Given the description of an element on the screen output the (x, y) to click on. 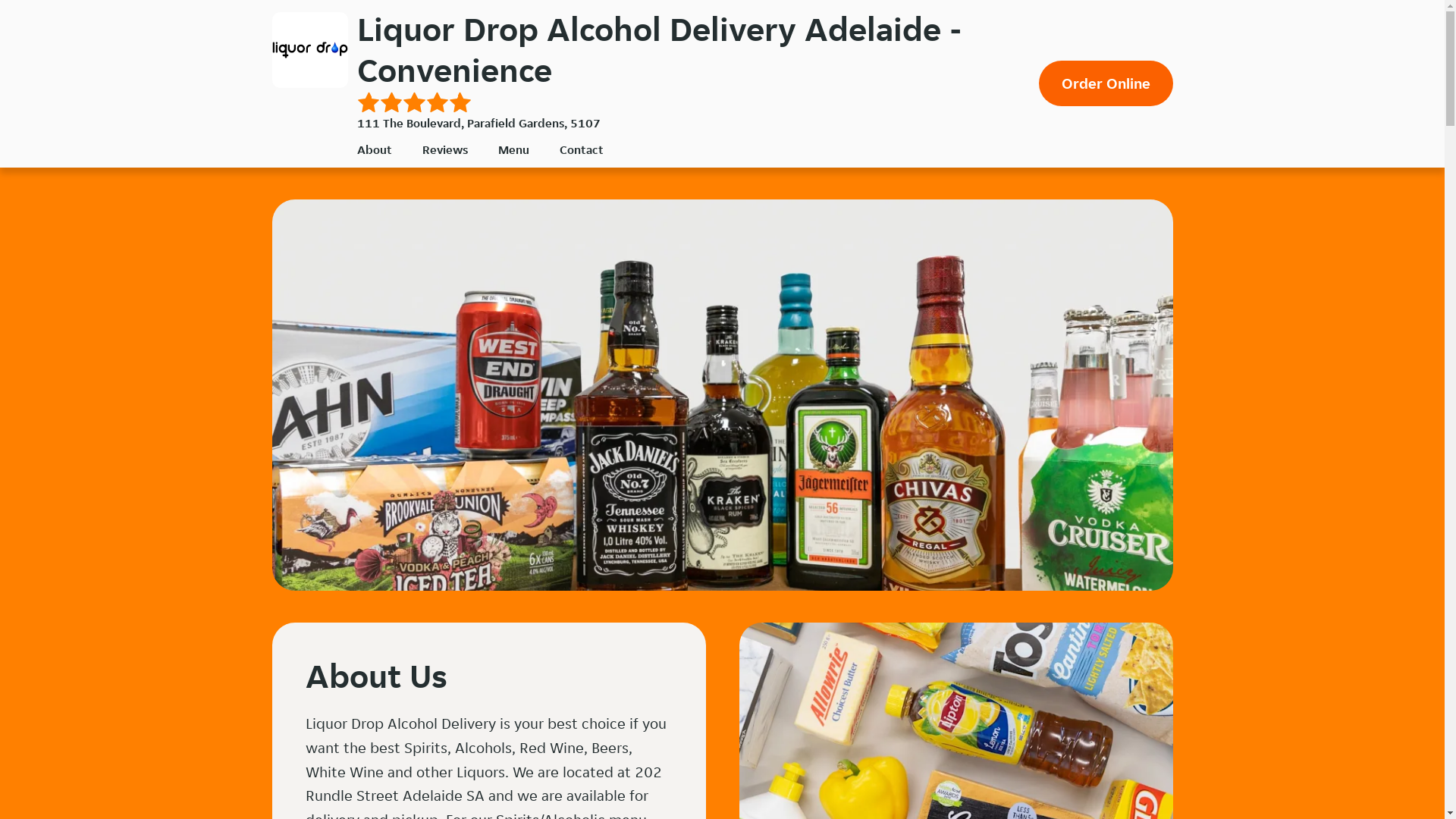
Contact Element type: text (581, 149)
About Element type: text (373, 149)
Order Online Element type: text (1105, 83)
Reviews Element type: text (444, 149)
Liquor Drop Alcohol Delivery Adelaide Element type: hover (309, 49)
Menu Element type: text (512, 149)
